Given the description of an element on the screen output the (x, y) to click on. 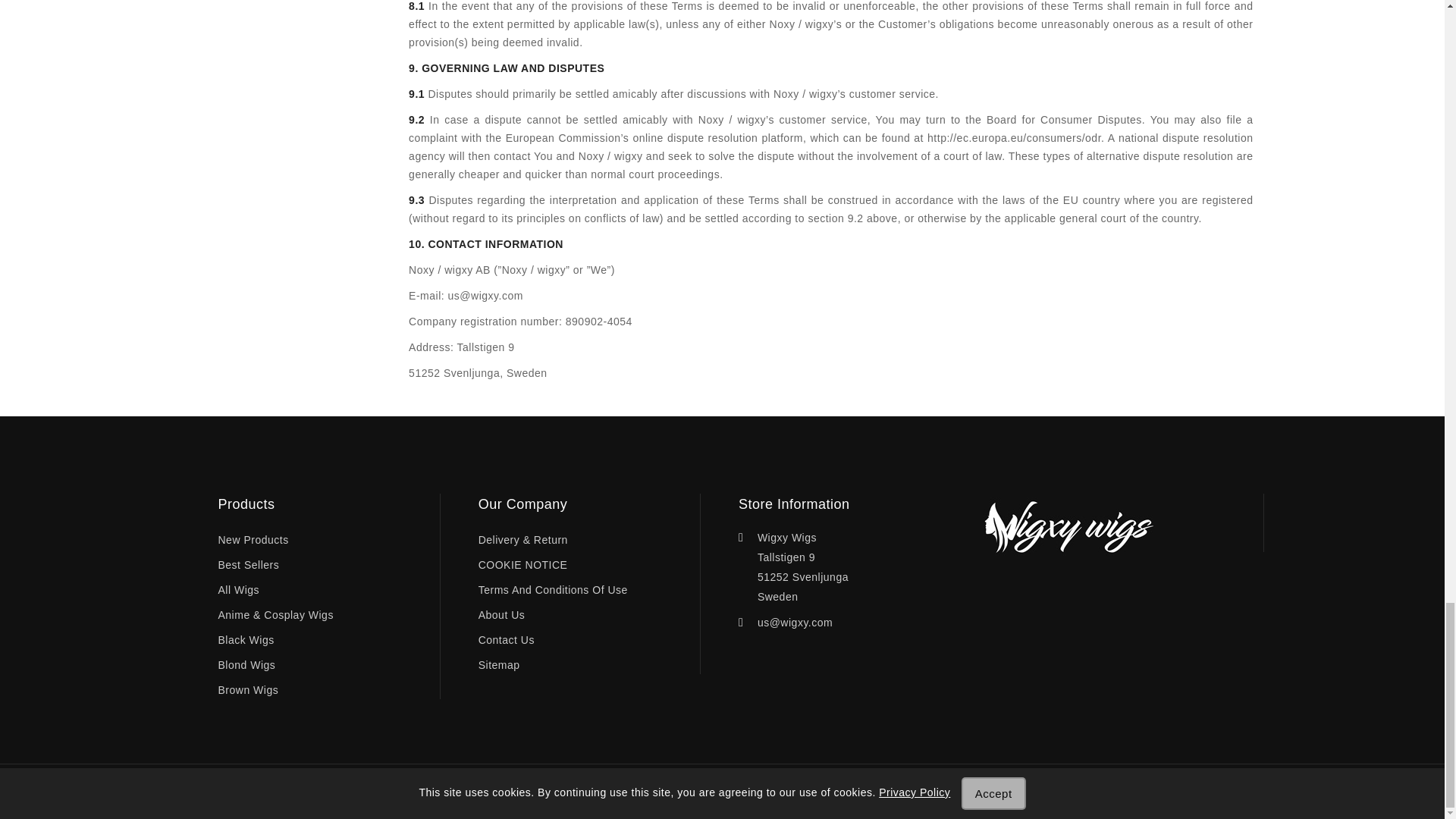
Our new products (253, 539)
Lost ? Find what your are looking for (499, 665)
Use our form to contact us (506, 640)
Our terms and conditions of use (553, 590)
Best Sellers (248, 565)
Our terms and conditions of delivery (523, 539)
COOKIE NOTICE (523, 565)
Learn more about us (502, 615)
All Wigs (239, 590)
New Products (253, 539)
Our best sales (248, 565)
